Given the description of an element on the screen output the (x, y) to click on. 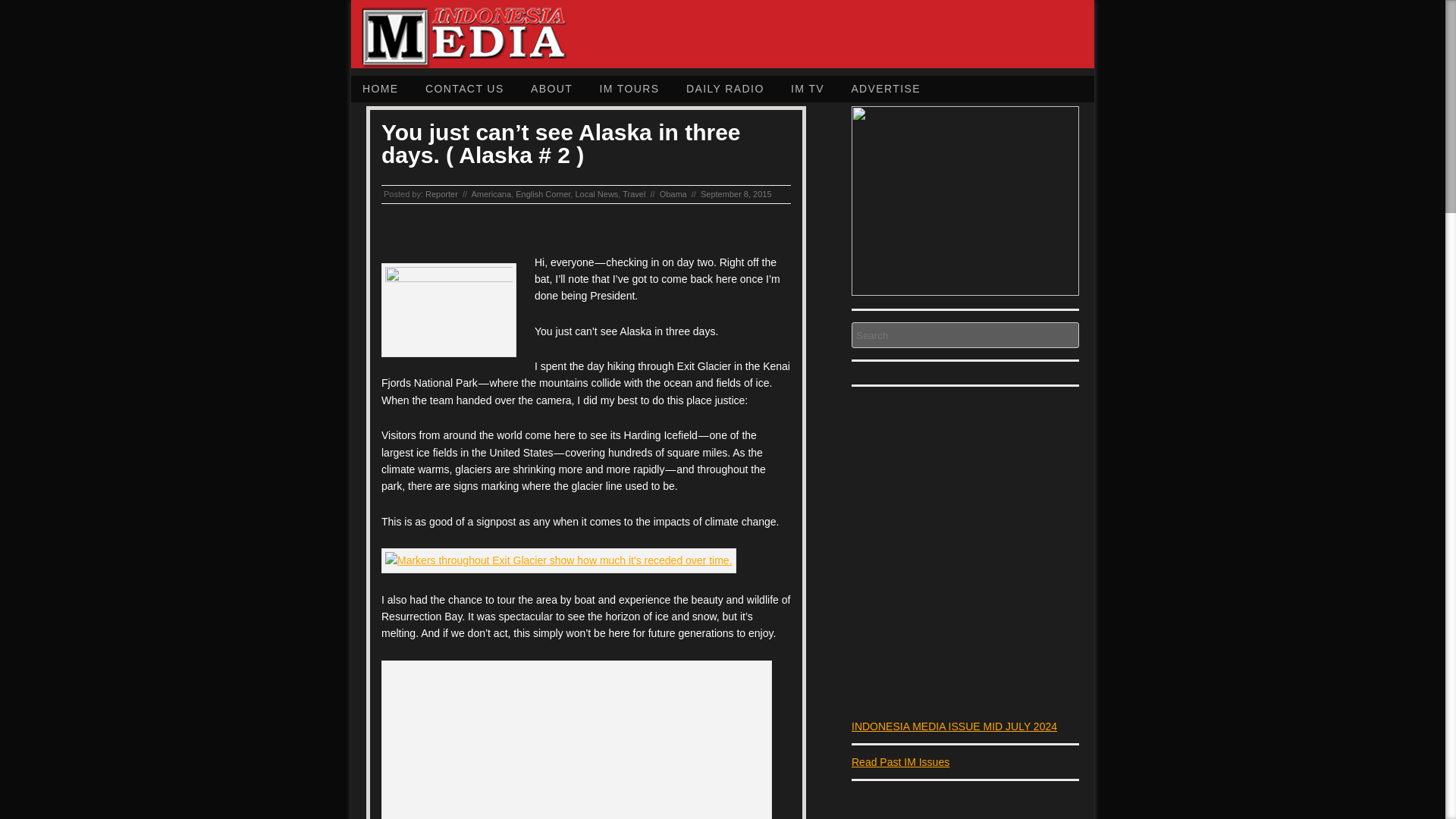
English Corner (542, 194)
Americana (490, 194)
IM TV (806, 88)
View all posts by Reporter (441, 194)
Obama (673, 194)
September 8, 2015 (735, 194)
IM TOURS (628, 88)
HOME (380, 88)
ABOUT (551, 88)
DAILY RADIO (725, 88)
Reporter (441, 194)
12:41 am (735, 194)
Travel (634, 194)
CONTACT US (464, 88)
ADVERTISE (885, 88)
